Given the description of an element on the screen output the (x, y) to click on. 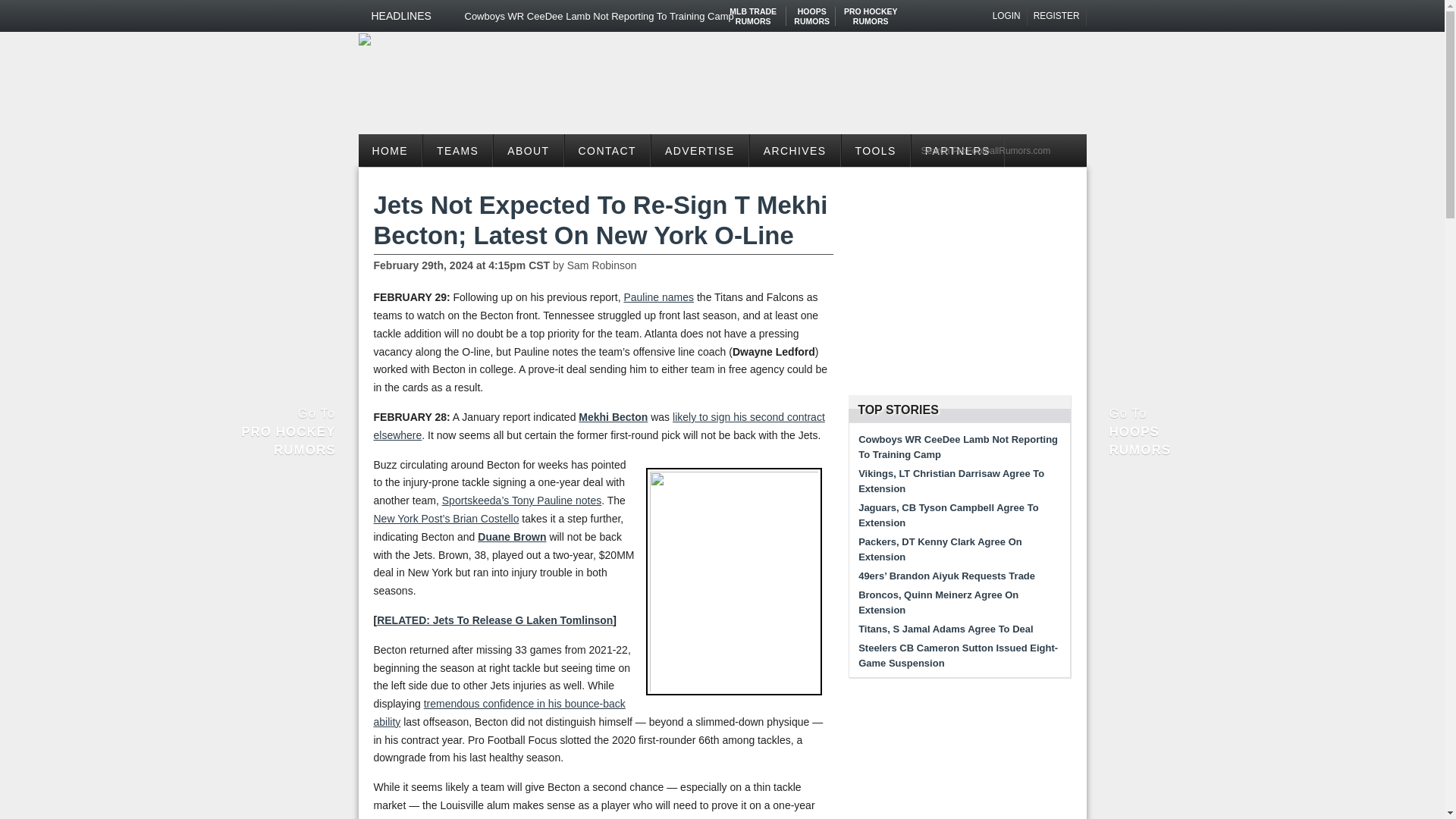
Cowboys WR CeeDee Lamb Not Reporting To Training Camp (610, 16)
TEAMS (753, 11)
Pro Football Rumors (457, 150)
REGISTER (363, 38)
LOGIN (1056, 16)
HOME (1007, 16)
Search for: (870, 11)
